Given the description of an element on the screen output the (x, y) to click on. 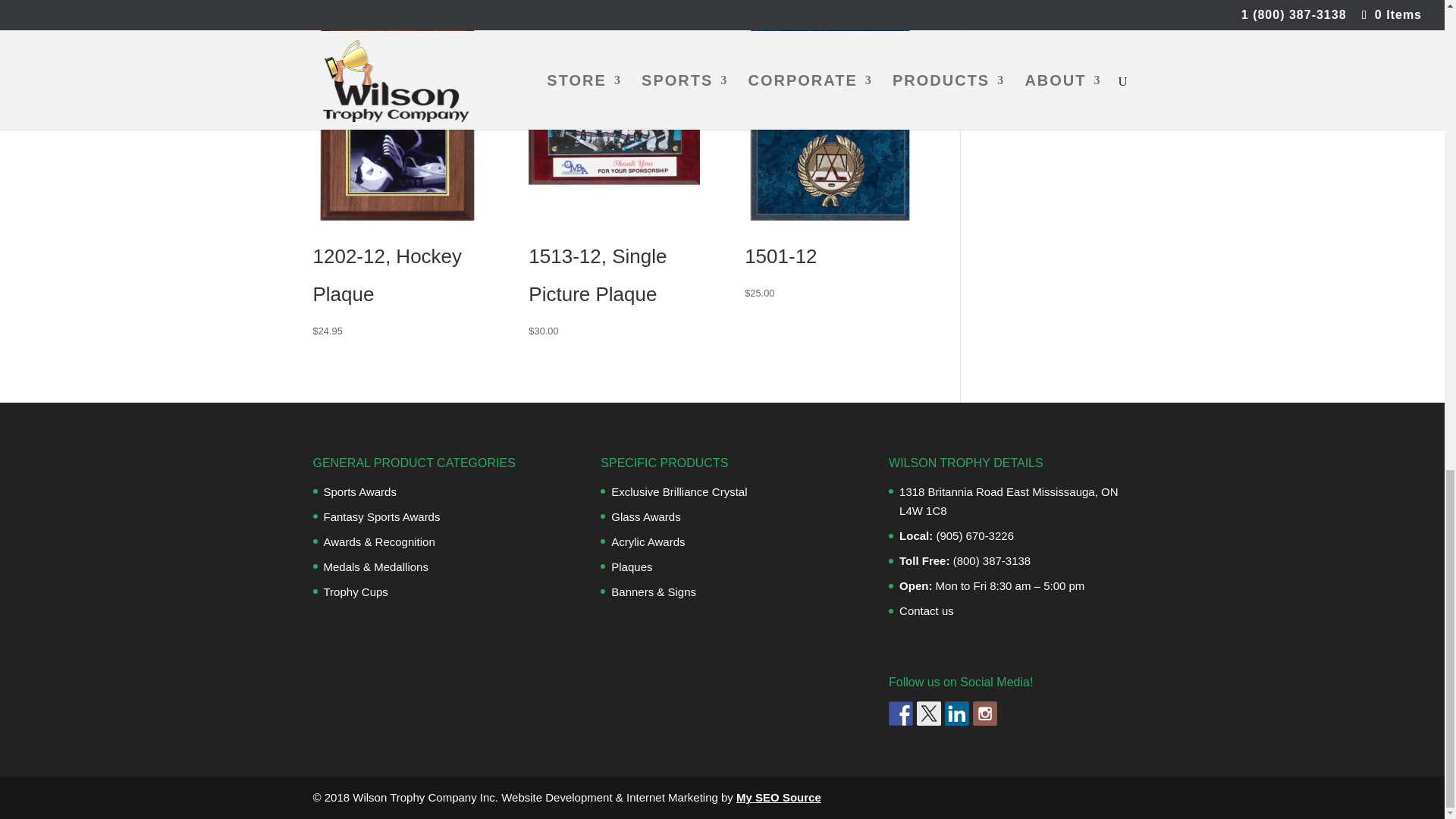
Follow us on Twitter (928, 713)
Check out our instagram feed (984, 713)
Follow us on Facebook (900, 713)
Find us on Linkedin (956, 713)
